Given the description of an element on the screen output the (x, y) to click on. 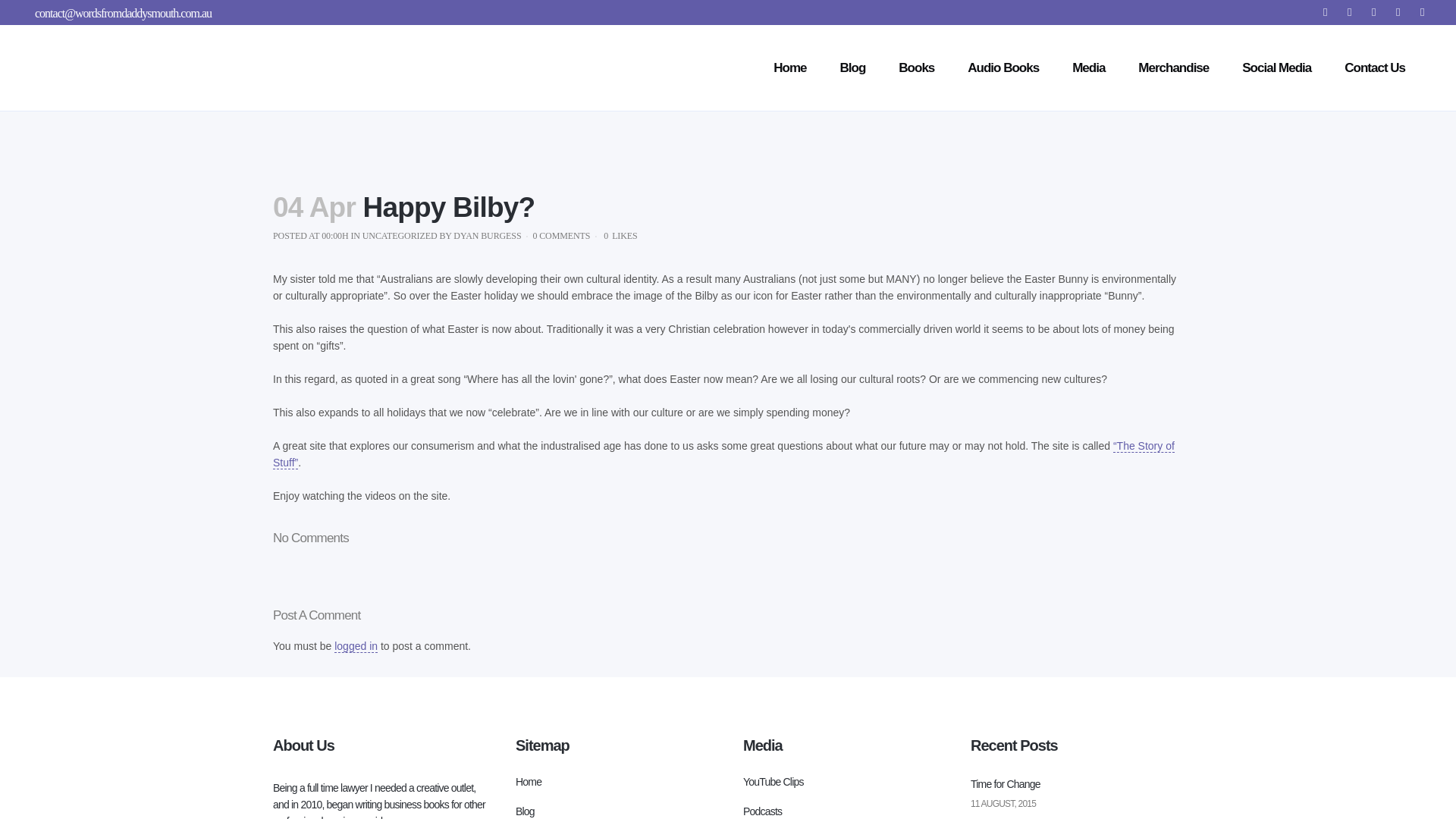
0 LIKES (620, 235)
logged in (355, 645)
Contact Us (1374, 67)
Blog (617, 811)
Merchandise (1173, 67)
Home (617, 781)
Audio Books (1002, 67)
UNCATEGORIZED (400, 235)
DYAN BURGESS (486, 235)
Like this (620, 235)
